Given the description of an element on the screen output the (x, y) to click on. 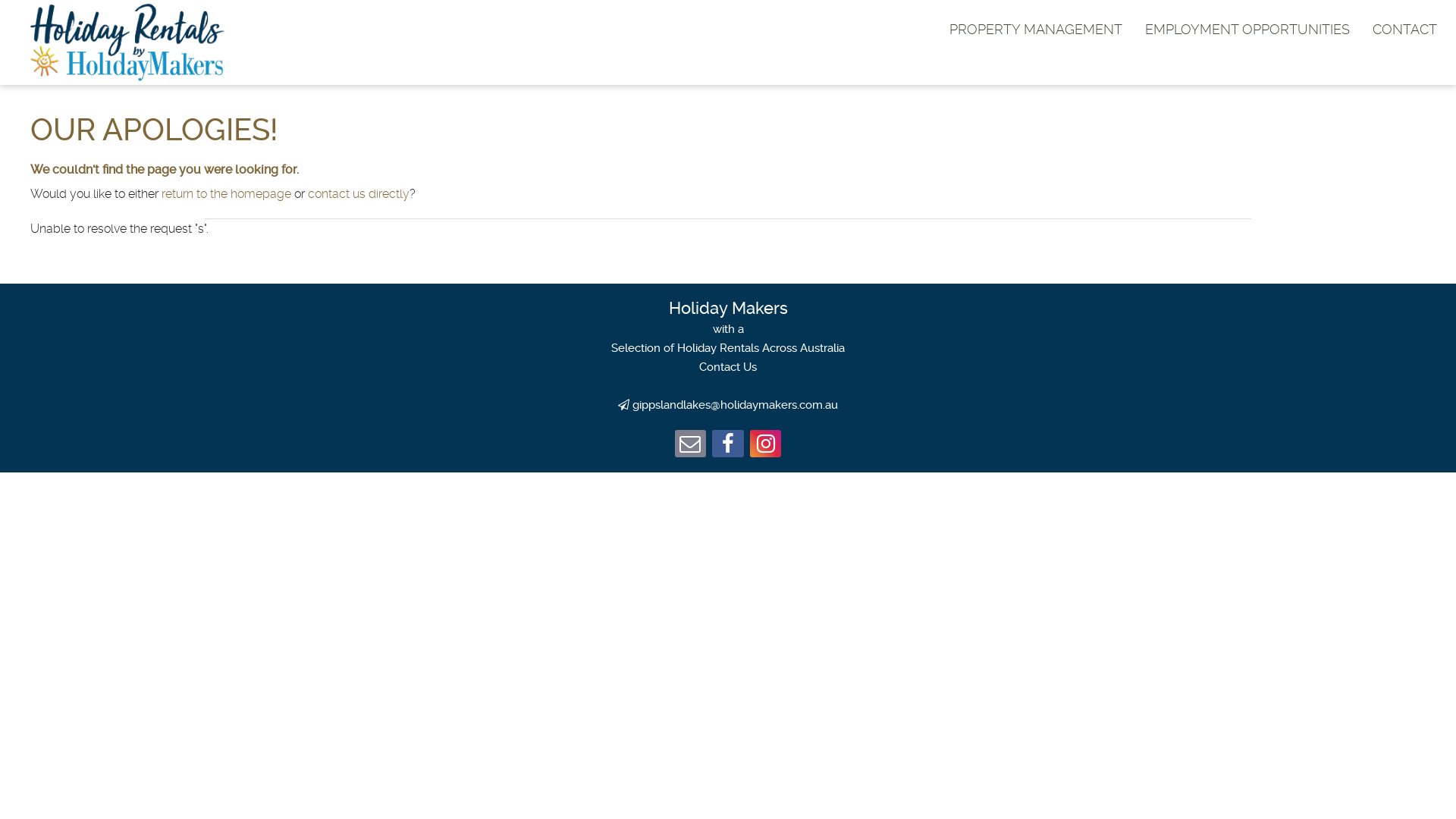
gippslandlakes@holidaymakers.com.au Element type: text (734, 404)
PROPERTY MANAGEMENT Element type: text (1035, 29)
CONTACT Element type: text (1404, 29)
return to the homepage Element type: text (226, 193)
Contact Us Element type: text (727, 366)
contact us directly Element type: text (358, 193)
Contact Us Element type: hover (690, 447)
EMPLOYMENT OPPORTUNITIES Element type: text (1247, 29)
Instagram Element type: hover (765, 447)
Facebook Element type: hover (727, 447)
